Given the description of an element on the screen output the (x, y) to click on. 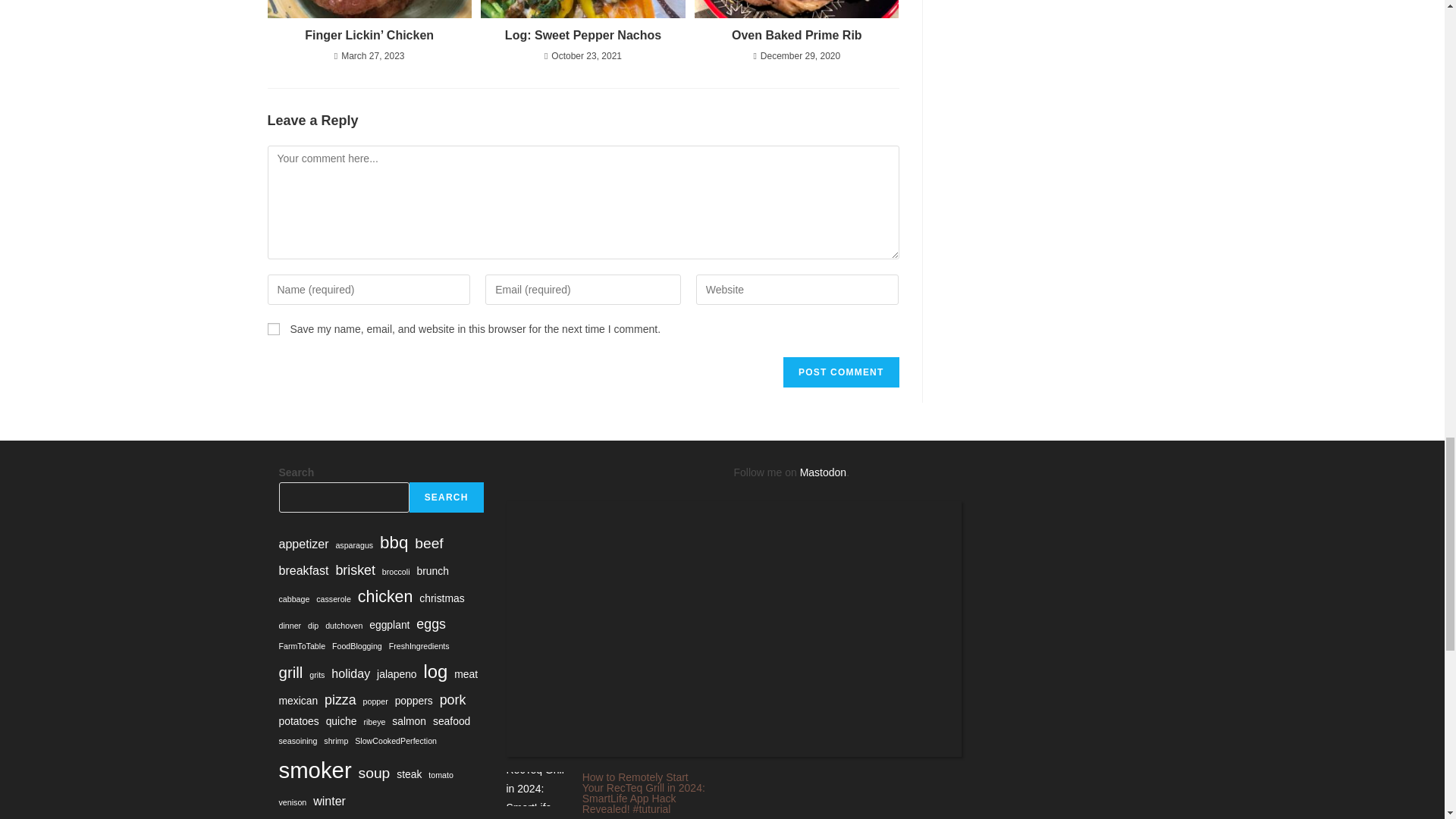
yes (272, 328)
Post Comment (840, 372)
